Given the description of an element on the screen output the (x, y) to click on. 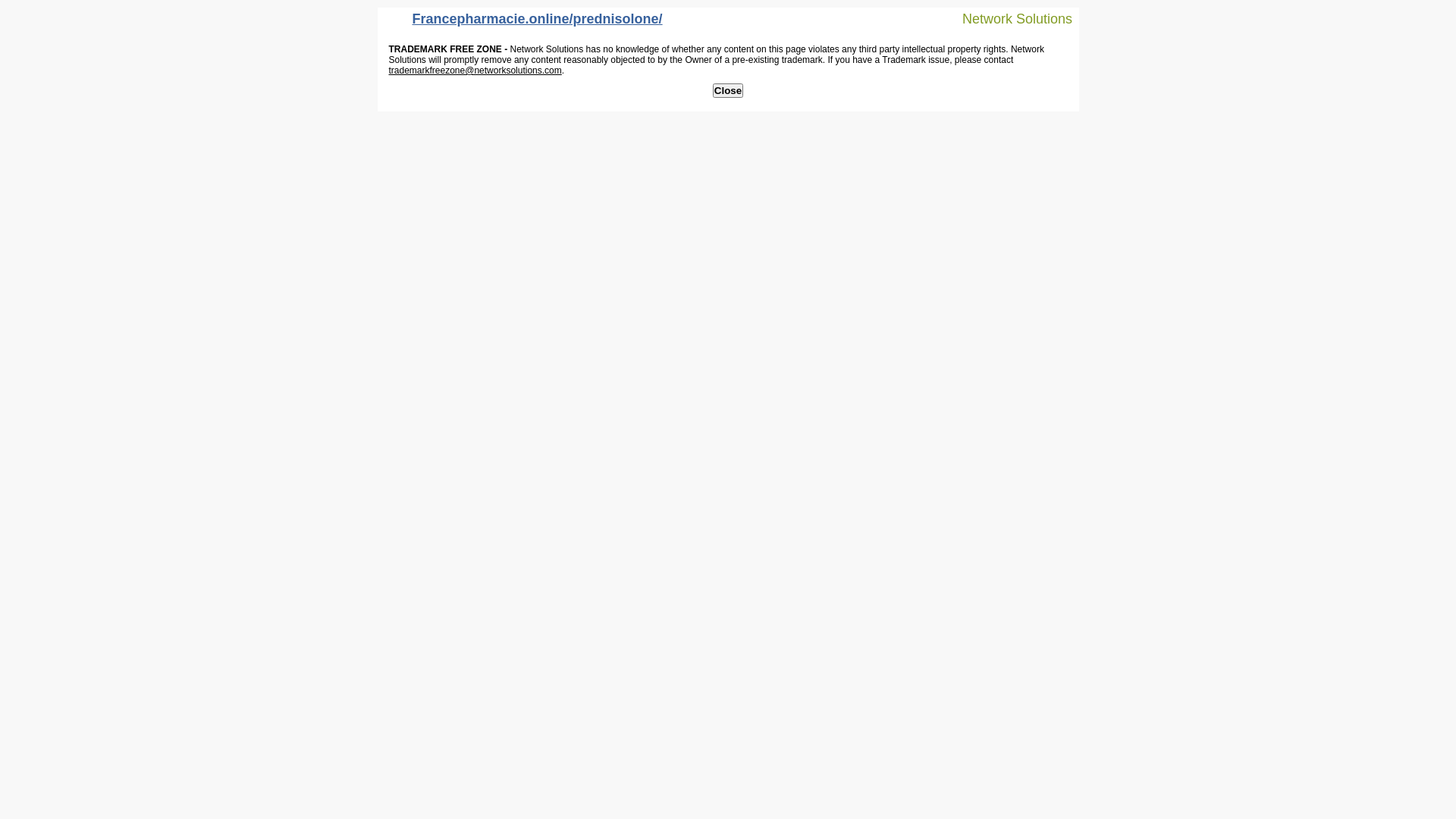
trademarkfreezone@networksolutions.com Element type: text (474, 70)
Network Solutions Element type: text (1007, 17)
Francepharmacie.online/prednisolone/ Element type: text (523, 21)
Close Element type: text (727, 90)
